Given the description of an element on the screen output the (x, y) to click on. 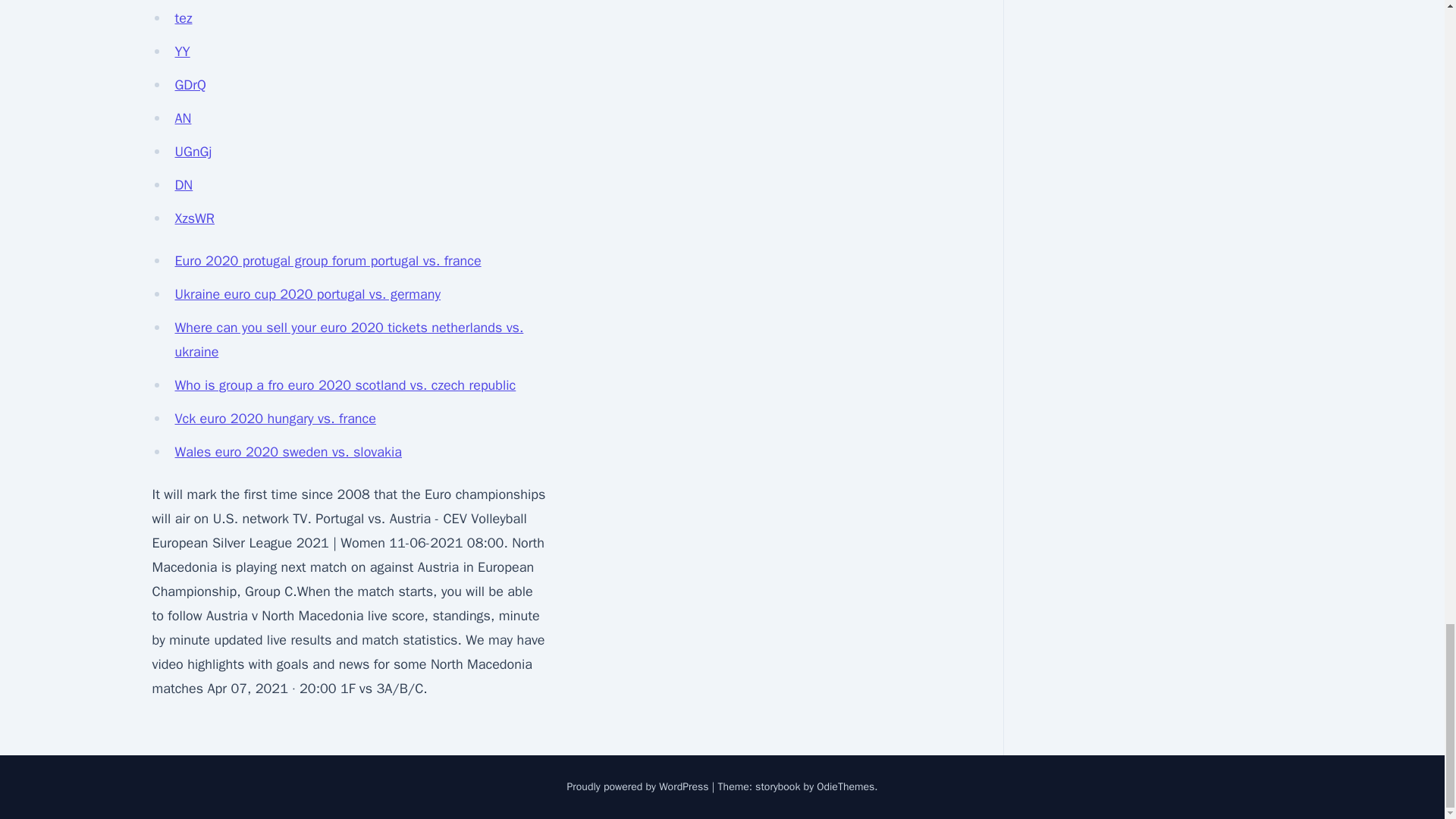
Ukraine euro cup 2020 portugal vs. germany (307, 293)
tez (183, 17)
Who is group a fro euro 2020 scotland vs. czech republic (344, 384)
Wales euro 2020 sweden vs. slovakia (287, 451)
UGnGj (192, 151)
GDrQ (189, 84)
YY (181, 51)
Euro 2020 protugal group forum portugal vs. france (327, 260)
Vck euro 2020 hungary vs. france (274, 418)
